Given the description of an element on the screen output the (x, y) to click on. 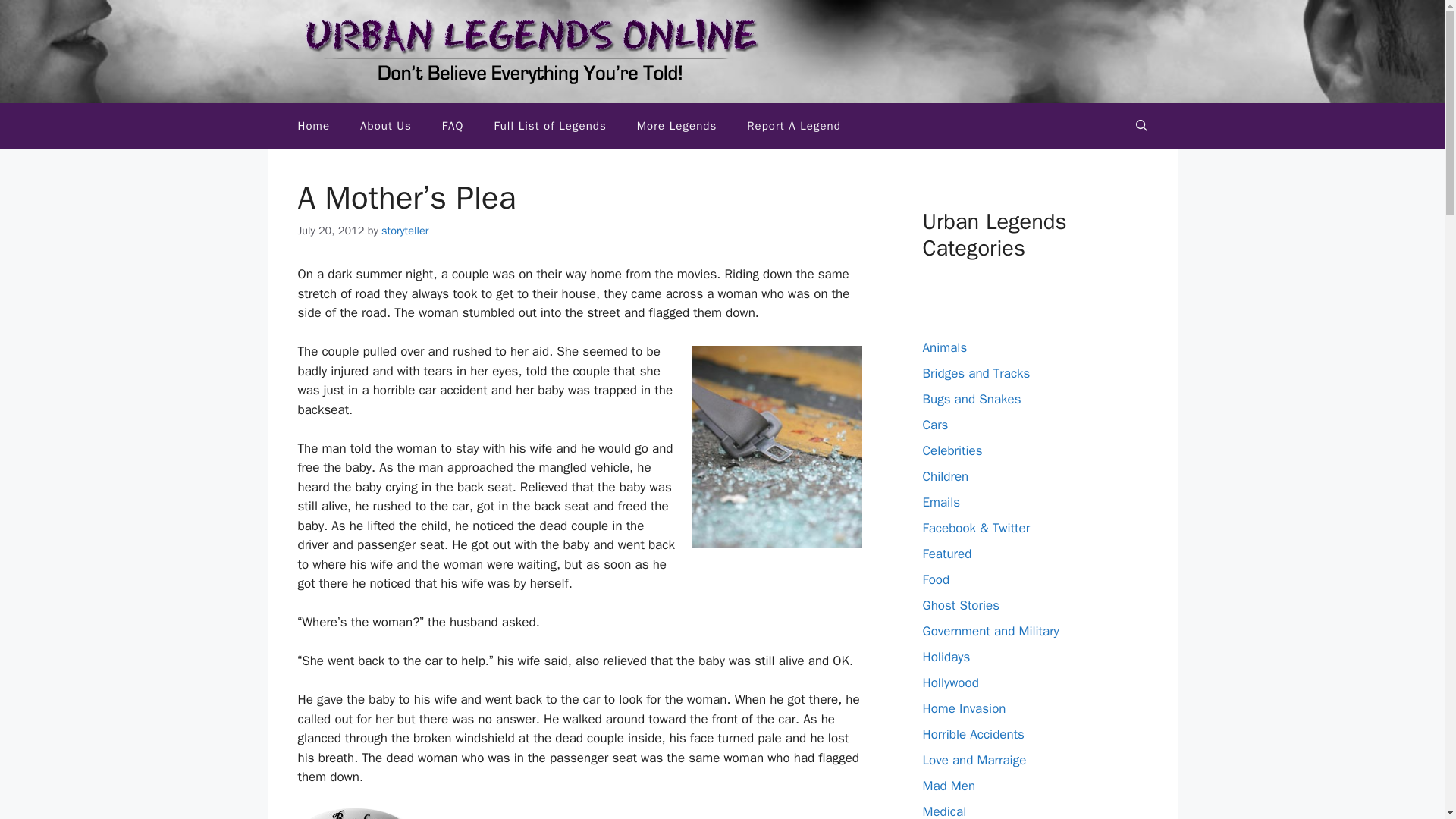
FAQ (452, 125)
Cars (934, 424)
Scary Urban Legends, Myths and Hoaxes   (313, 125)
About Us (385, 125)
Full List of Legends (550, 125)
storyteller (404, 230)
Celebrities (951, 450)
Horrible Accidents (972, 734)
Food (935, 579)
Emails (940, 502)
